Given the description of an element on the screen output the (x, y) to click on. 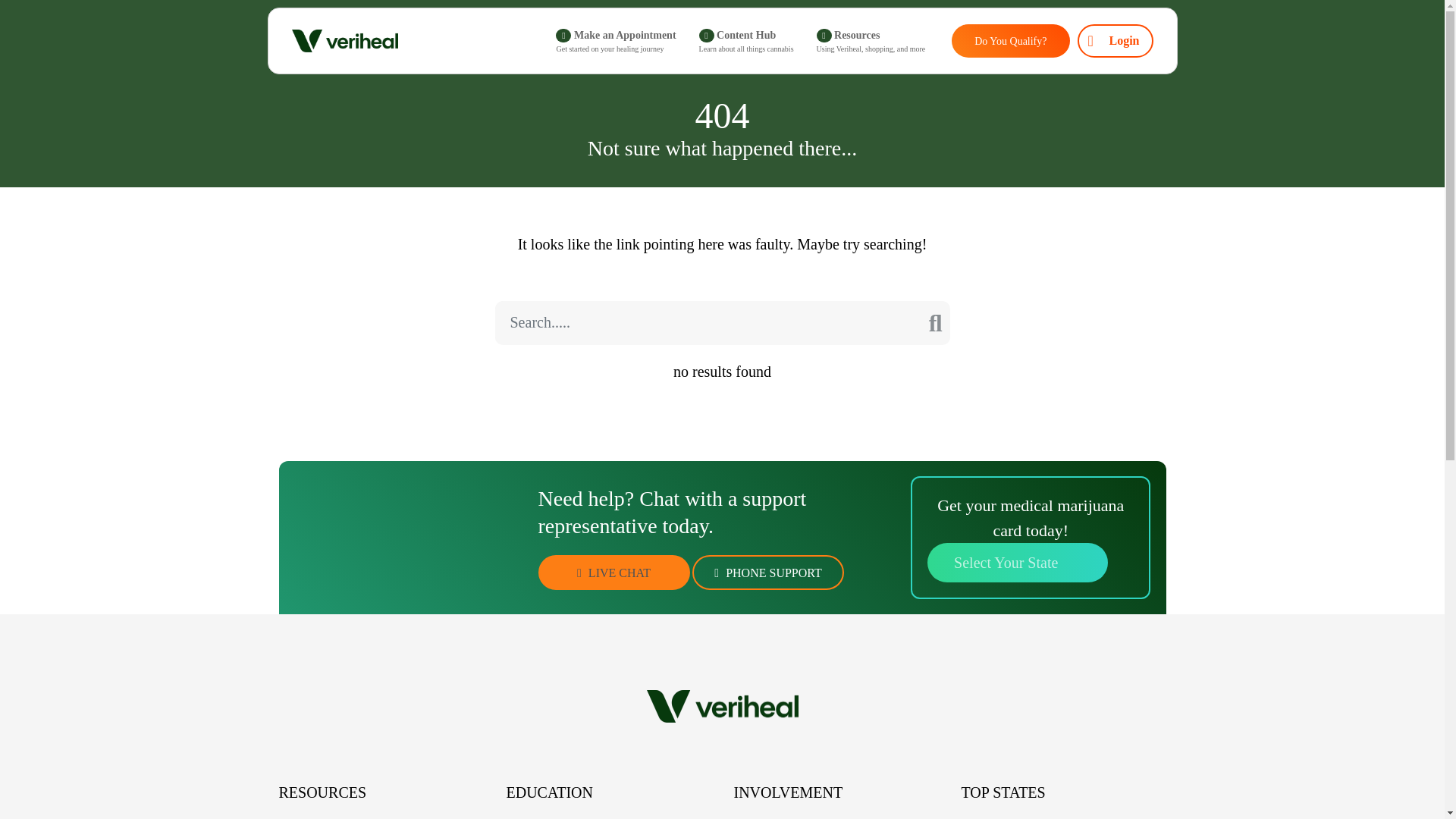
Content Hub (746, 40)
Make an Appointment (615, 40)
Do You Qualify? (1010, 40)
Resources (871, 40)
Login (1115, 40)
